Given the description of an element on the screen output the (x, y) to click on. 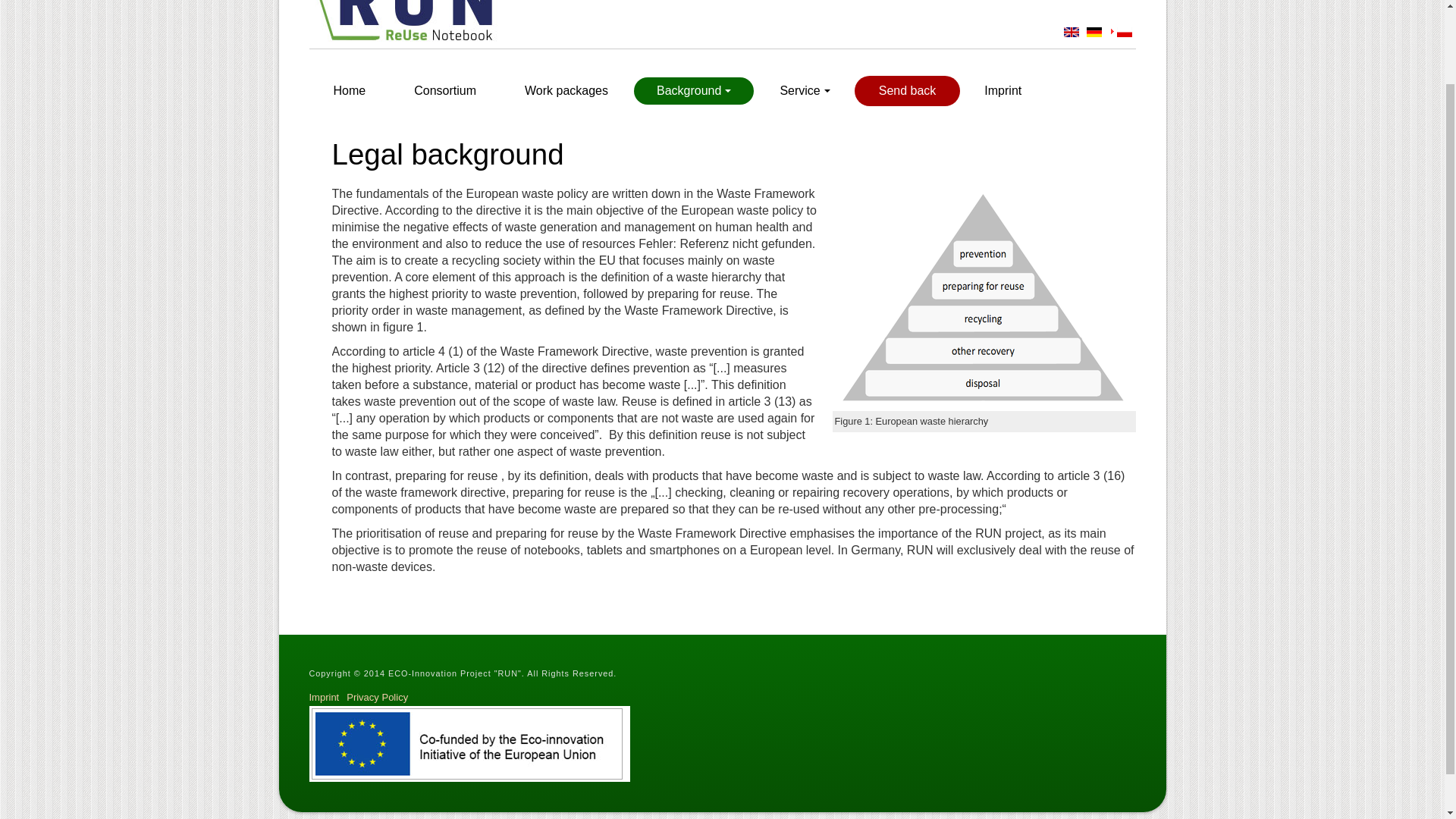
Imprint (1001, 90)
Deutsch (1093, 31)
Figure 1: European waste hierarchy (983, 298)
Polski (1123, 31)
Work packages (566, 90)
Background (693, 90)
Send back (907, 90)
Consortium (445, 90)
Service (804, 90)
English (1070, 31)
